Given the description of an element on the screen output the (x, y) to click on. 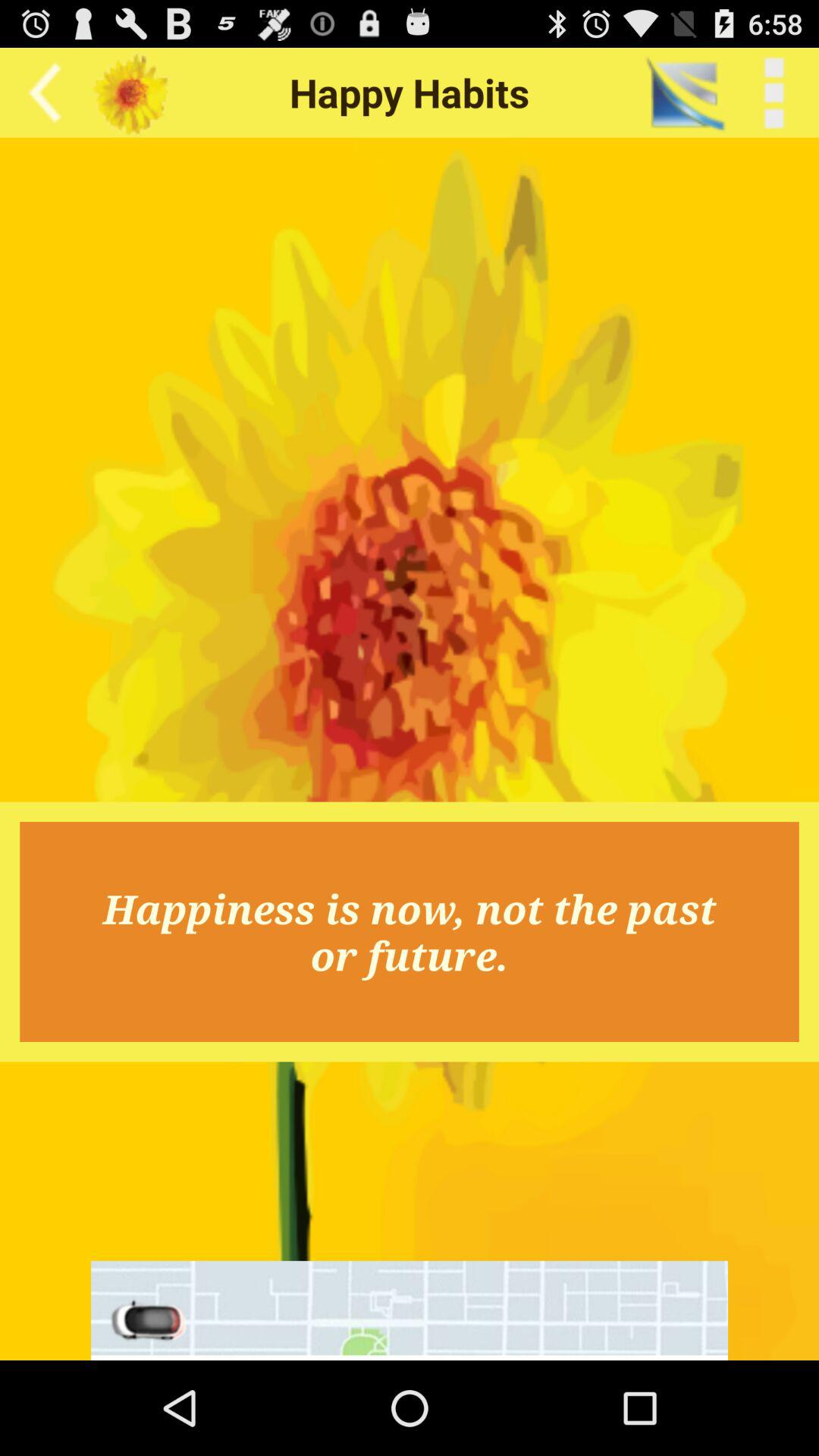
go to advertisement page (409, 1310)
